Given the description of an element on the screen output the (x, y) to click on. 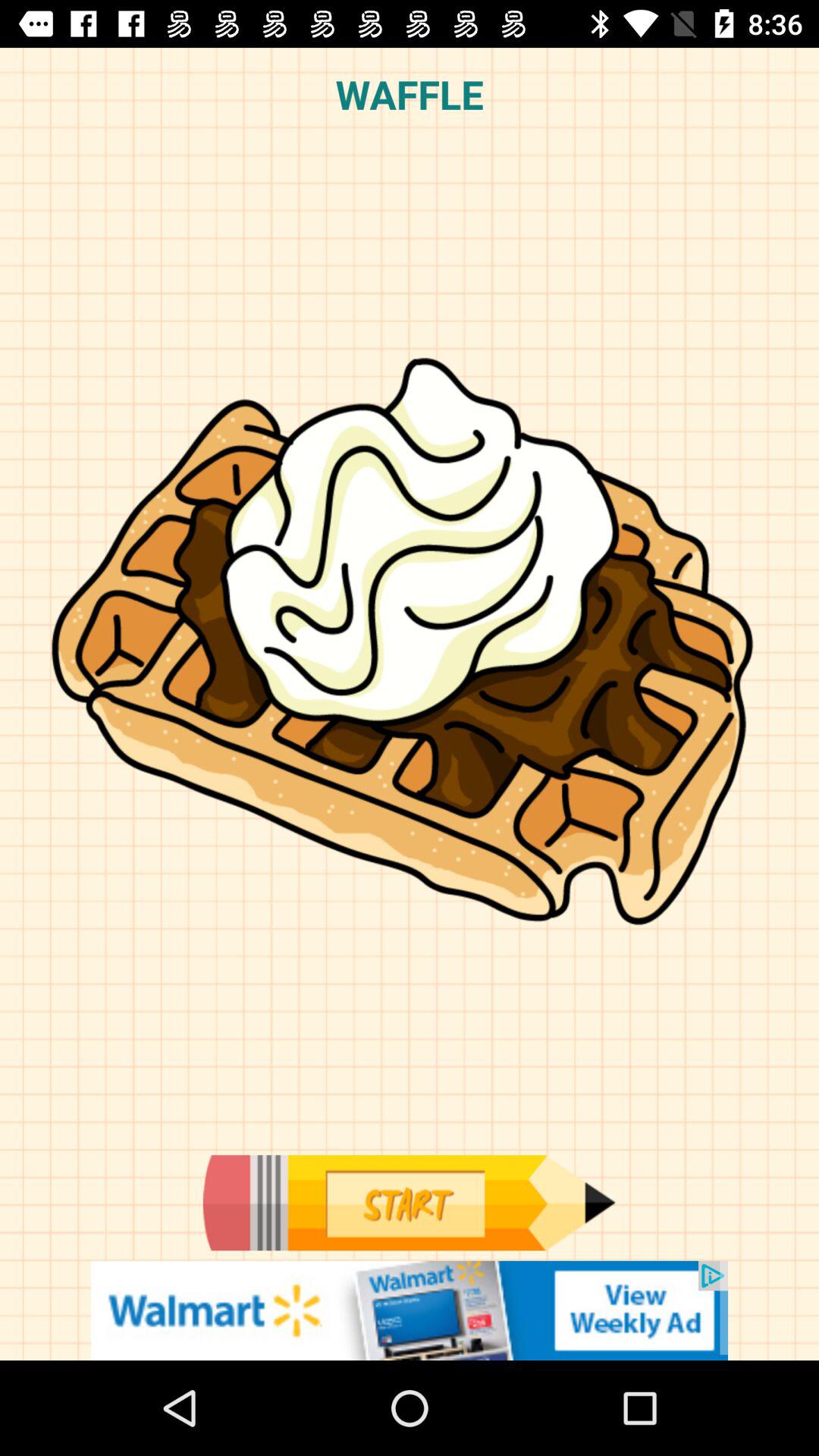
start drawing (409, 1202)
